Given the description of an element on the screen output the (x, y) to click on. 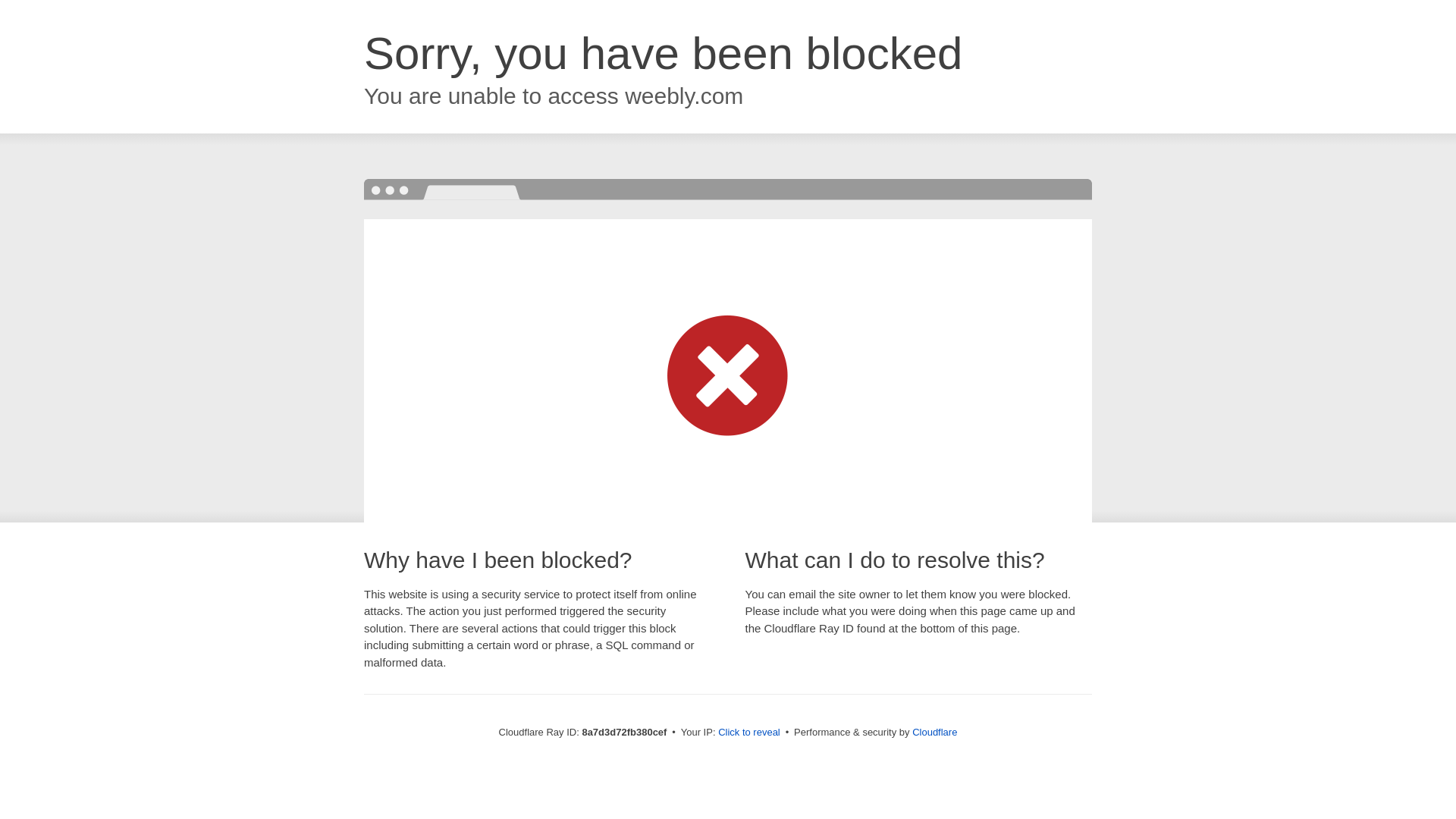
Cloudflare (934, 731)
Click to reveal (748, 732)
